Given the description of an element on the screen output the (x, y) to click on. 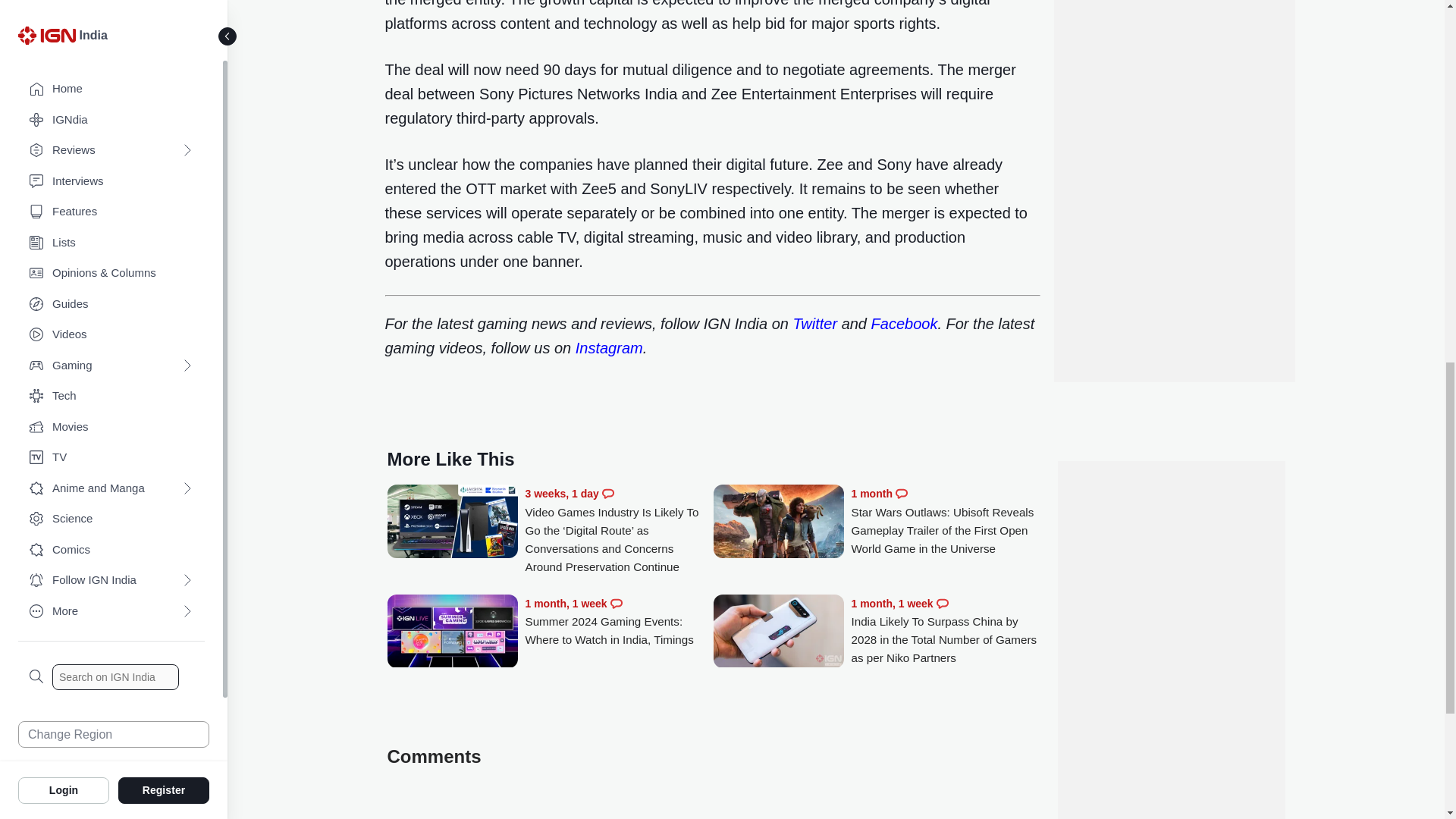
Summer 2024 Gaming Events: Where to Watch in India, Timings (618, 622)
Summer 2024 Gaming Events: Where to Watch in India, Timings (451, 632)
